Given the description of an element on the screen output the (x, y) to click on. 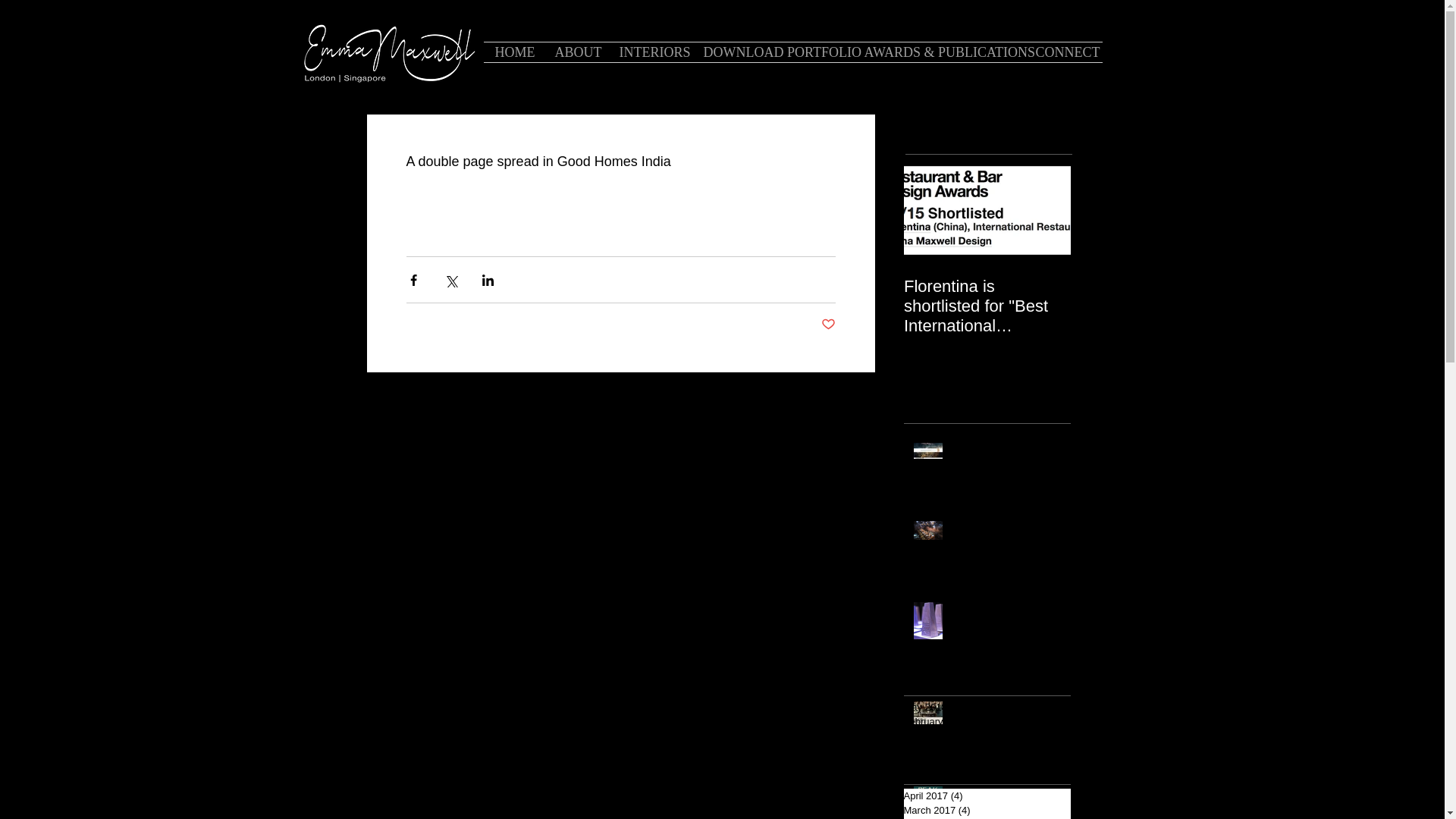
DOWNLOAD PORTFOLIO (771, 52)
ABOUT (575, 52)
Post not marked as liked (827, 324)
HOME (513, 52)
INTERIORS (650, 52)
CONNECT (1062, 52)
